Given the description of an element on the screen output the (x, y) to click on. 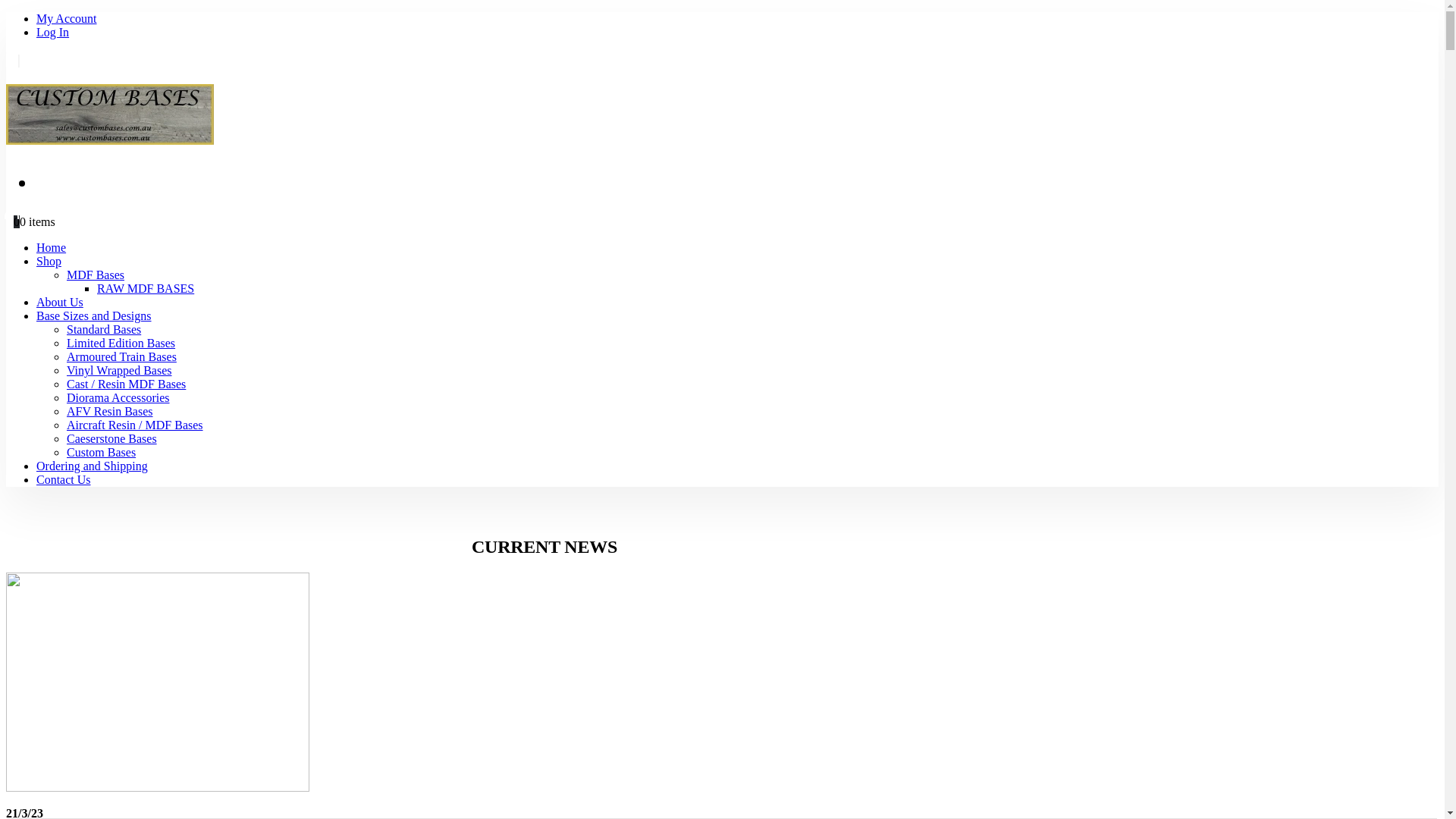
Shop Element type: text (48, 260)
Limited Edition Bases Element type: text (120, 342)
Log In Element type: text (52, 31)
current-news Element type: hover (157, 681)
Contact Us Element type: text (63, 479)
Diorama Accessories Element type: text (117, 397)
Custom Bases - Custom Bases Element type: hover (109, 136)
RAW MDF BASES Element type: text (145, 288)
Armoured Train Bases Element type: text (121, 356)
Ordering and Shipping Element type: text (91, 465)
AFV Resin Bases Element type: text (109, 410)
MDF Bases Element type: text (95, 274)
Custom Bases Element type: text (100, 451)
About Us Element type: text (59, 301)
Base Sizes and Designs Element type: text (93, 315)
Vinyl Wrapped Bases Element type: text (119, 370)
Home Element type: text (50, 247)
Standard Bases Element type: text (103, 329)
My Account Element type: text (66, 18)
Cast / Resin MDF Bases Element type: text (125, 383)
Caeserstone Bases Element type: text (111, 438)
Aircraft Resin / MDF Bases Element type: text (134, 424)
